Given the description of an element on the screen output the (x, y) to click on. 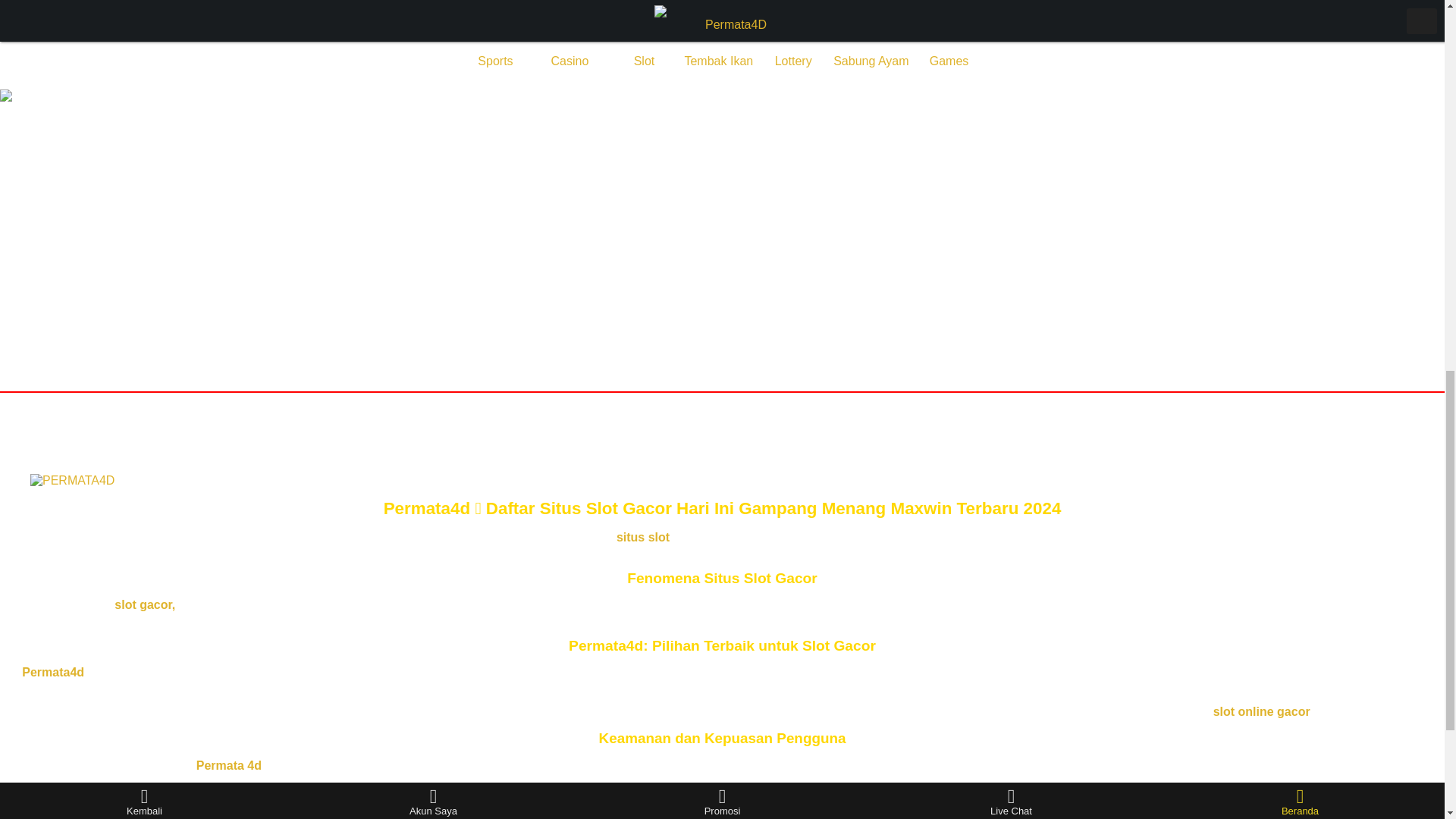
situs slot (642, 536)
Games (949, 41)
Games (949, 41)
Casino (569, 41)
slot gacor, (144, 604)
Sabung Ayam (870, 41)
Tembak Ikan (718, 41)
